Given the description of an element on the screen output the (x, y) to click on. 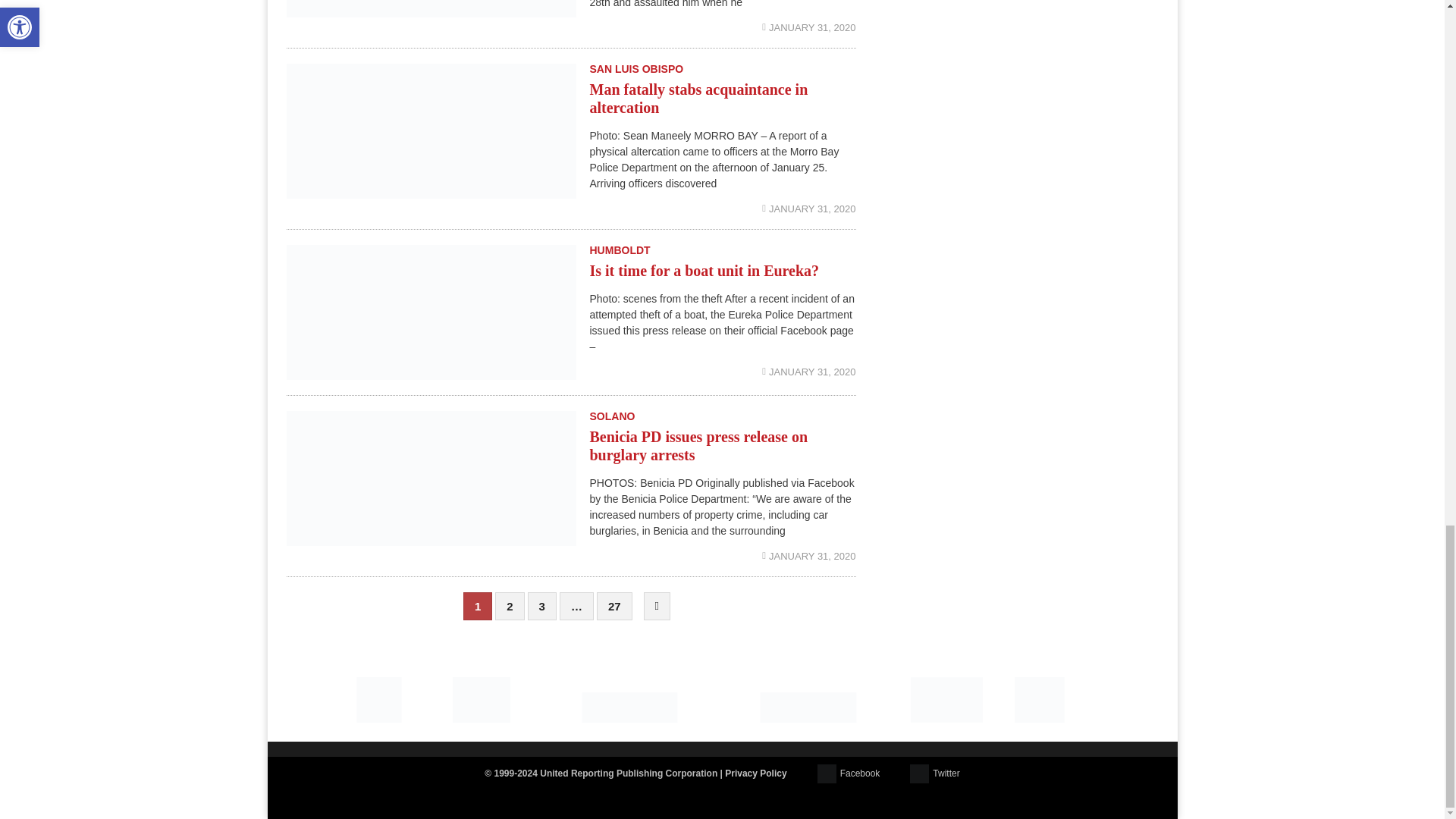
United Reporting Publishing - Crime Beat News (379, 682)
Get Arrest Logs - Free, Syndicated Arrest News (629, 697)
